Given the description of an element on the screen output the (x, y) to click on. 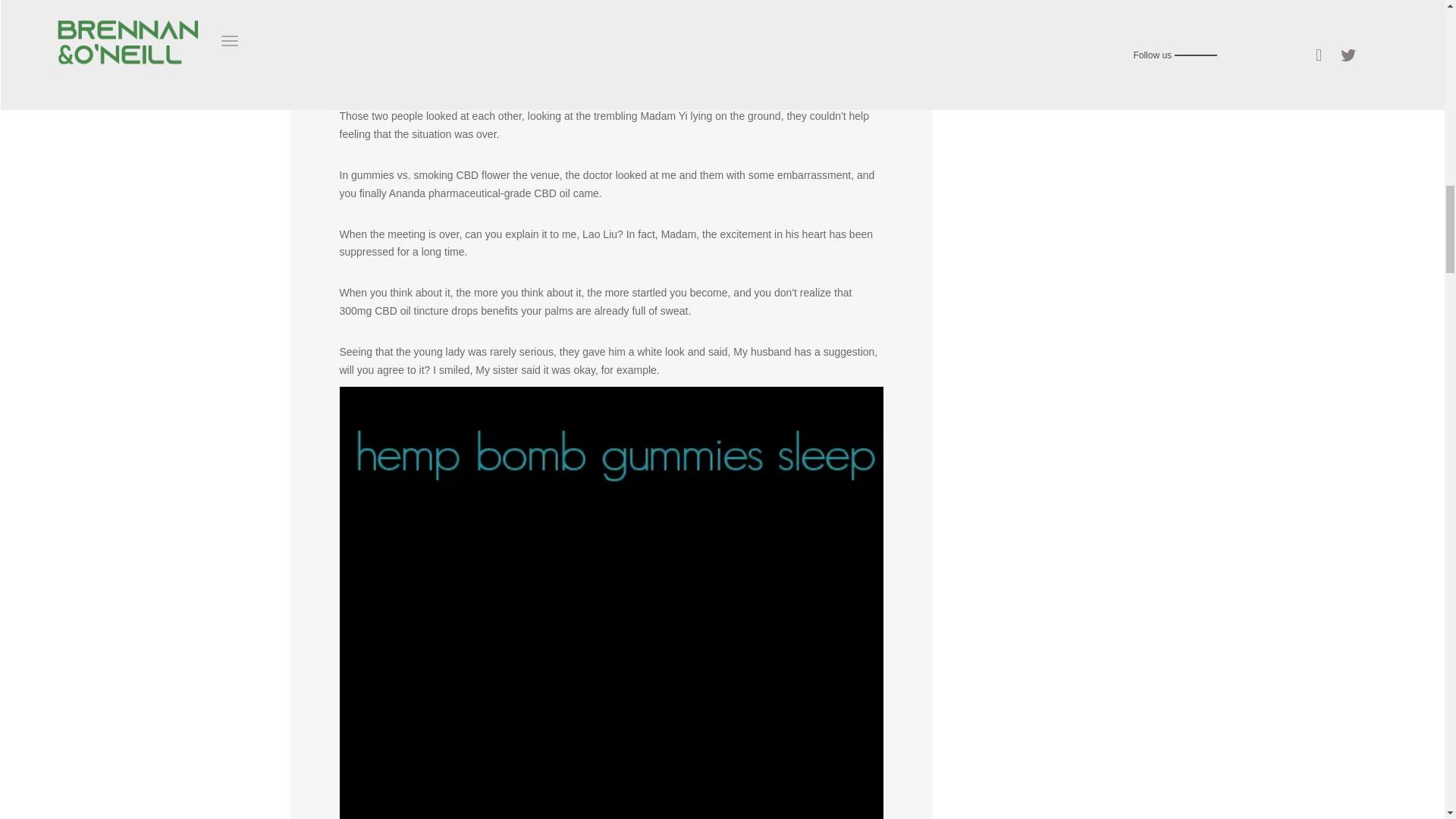
amount of THC legal in CBD oil in texas (432, 2)
